Given the description of an element on the screen output the (x, y) to click on. 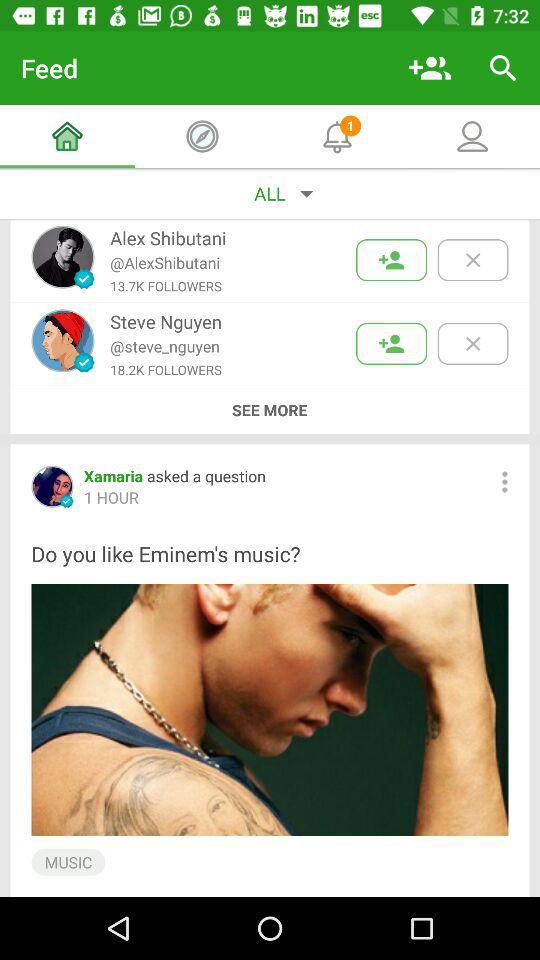
dismiss suggestion (472, 343)
